Given the description of an element on the screen output the (x, y) to click on. 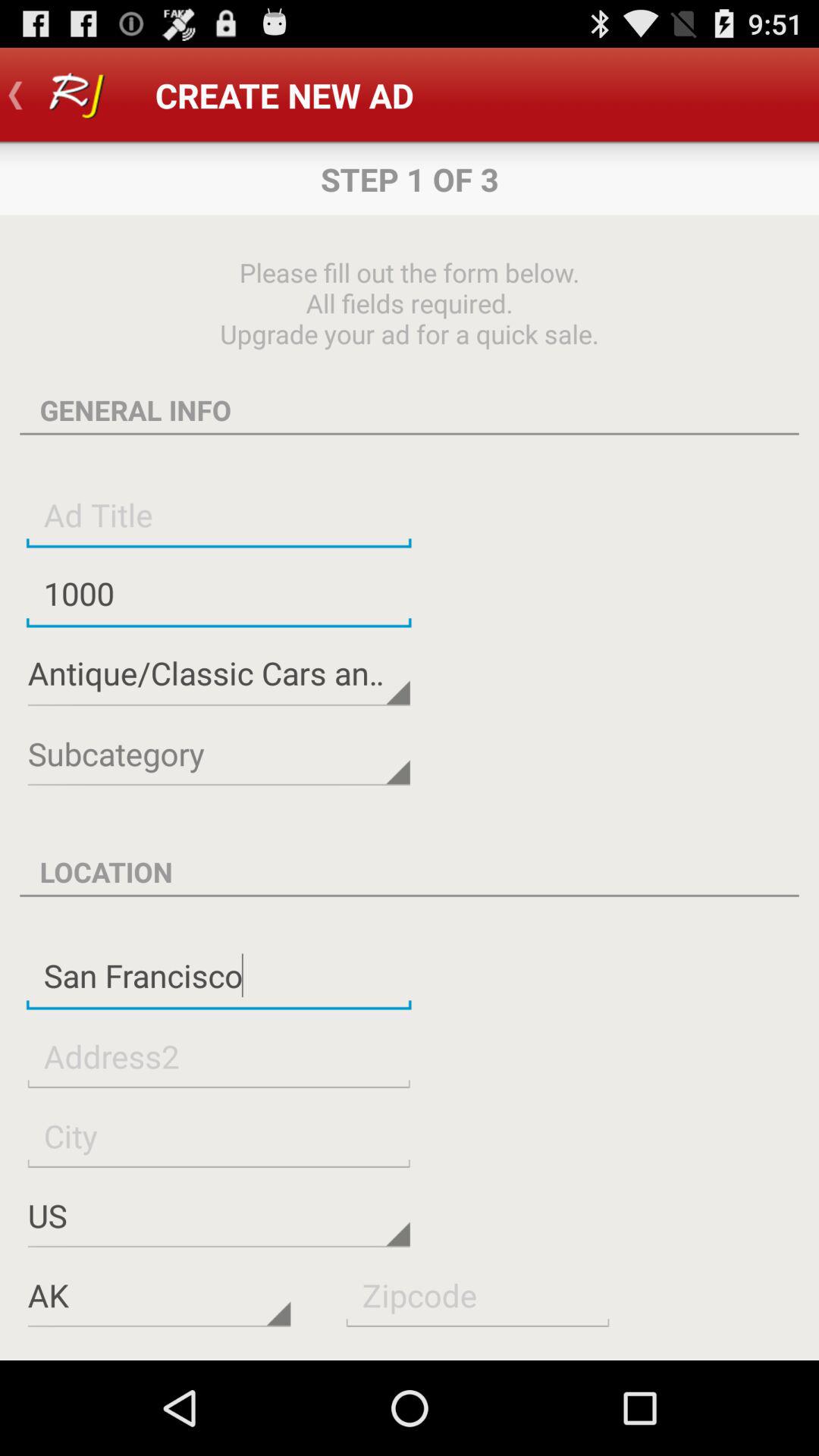
second address field (218, 1055)
